Given the description of an element on the screen output the (x, y) to click on. 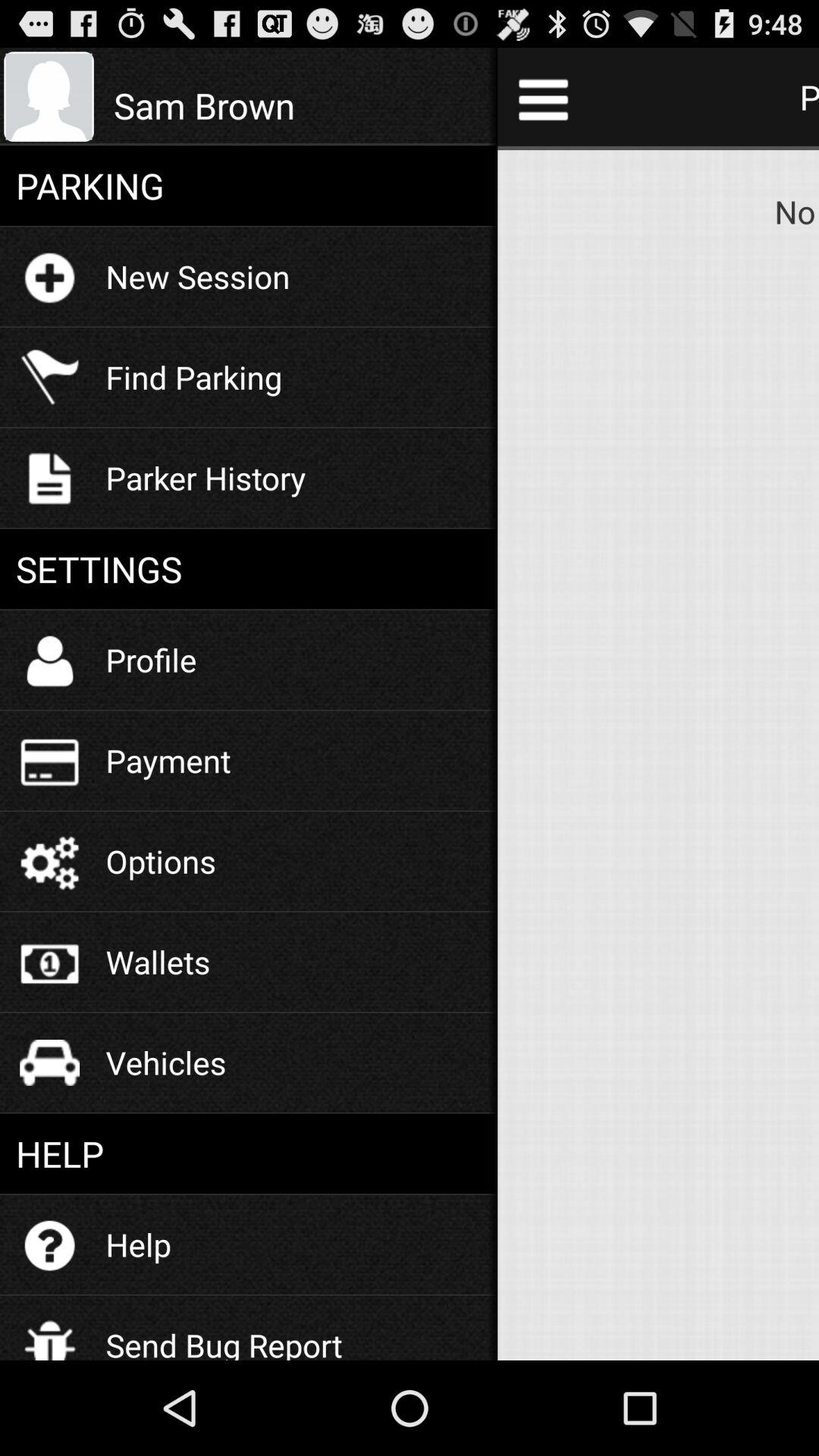
open the new session item (197, 275)
